Given the description of an element on the screen output the (x, y) to click on. 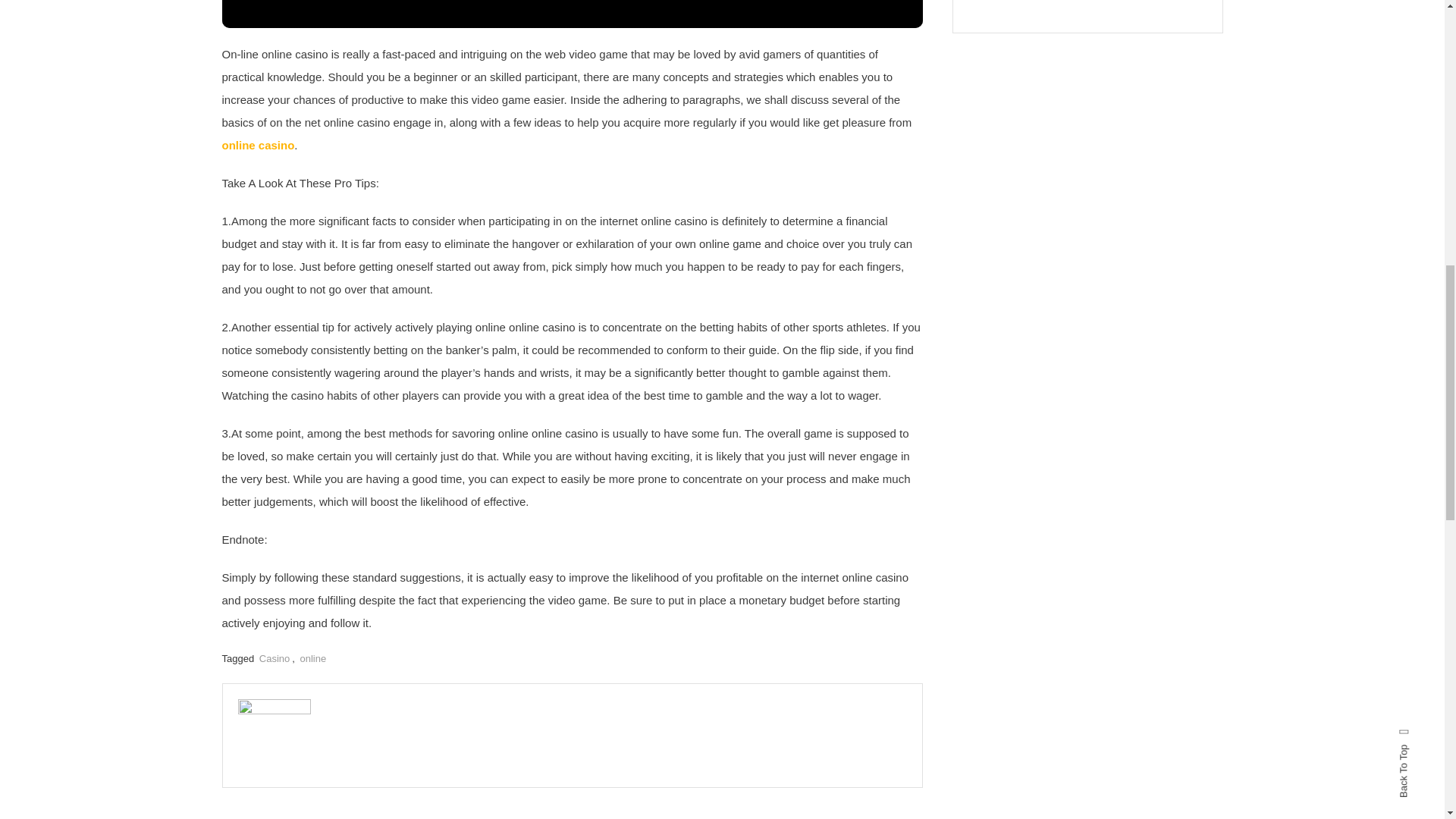
online (312, 658)
Casino (274, 658)
online casino (257, 144)
